Given the description of an element on the screen output the (x, y) to click on. 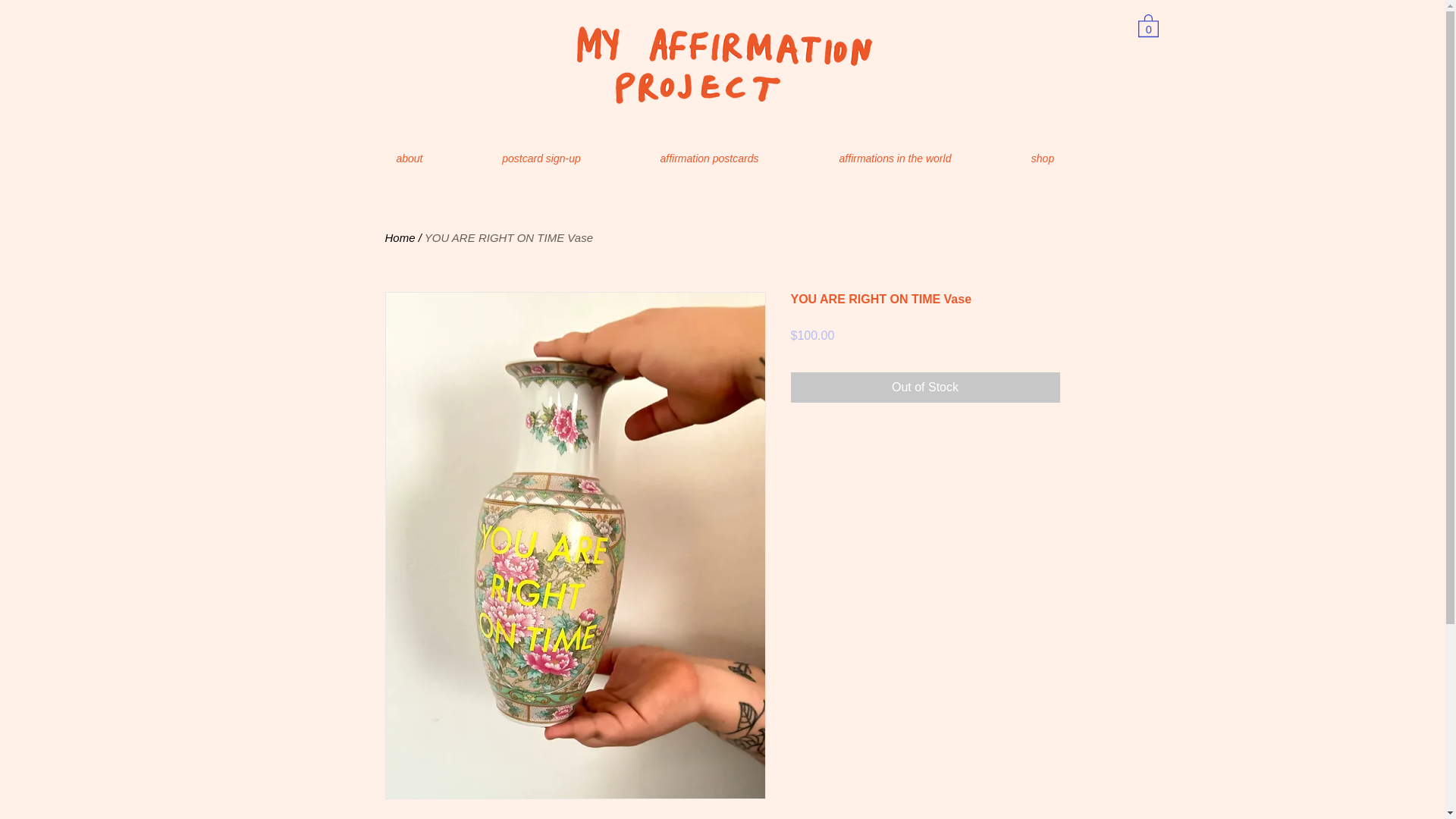
Home (399, 237)
affirmations in the world (895, 158)
postcard sign-up (541, 158)
about (409, 158)
YOU ARE RIGHT ON TIME Vase (508, 237)
affirmation postcards (709, 158)
Out of Stock (924, 387)
shop (1042, 158)
